Given the description of an element on the screen output the (x, y) to click on. 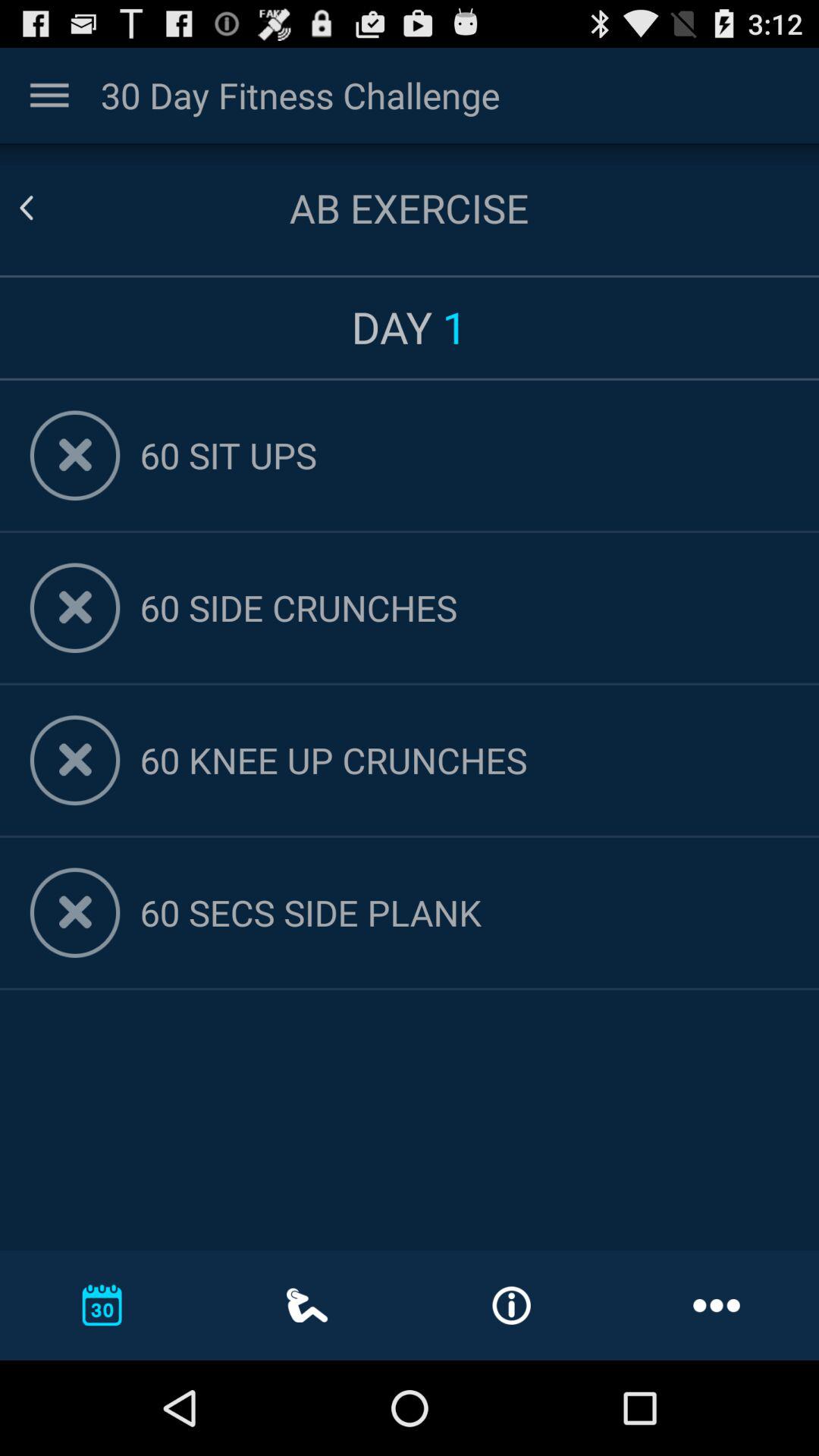
select the 60 knee up icon (463, 759)
